Given the description of an element on the screen output the (x, y) to click on. 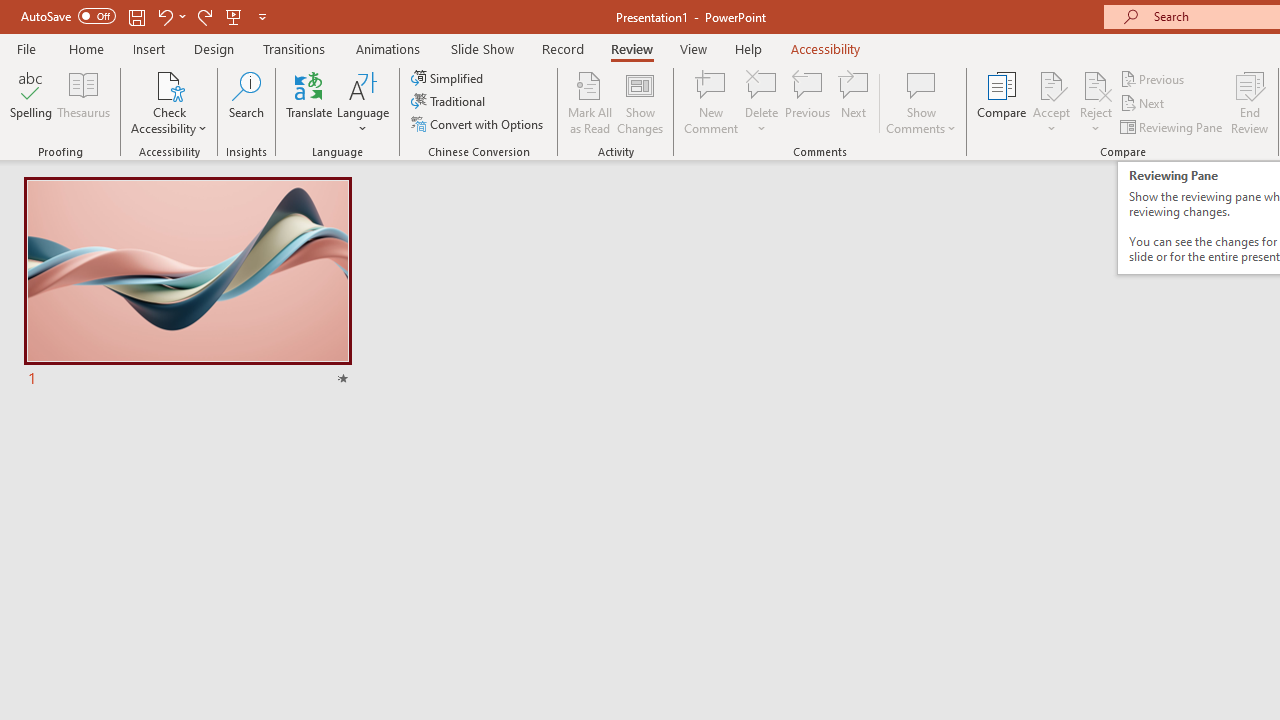
Next (1144, 103)
Traditional (449, 101)
Convert with Options... (479, 124)
Reviewing Pane (1172, 126)
Translate (309, 102)
Mark All as Read (589, 102)
Show Changes (639, 102)
New Comment (711, 102)
